Given the description of an element on the screen output the (x, y) to click on. 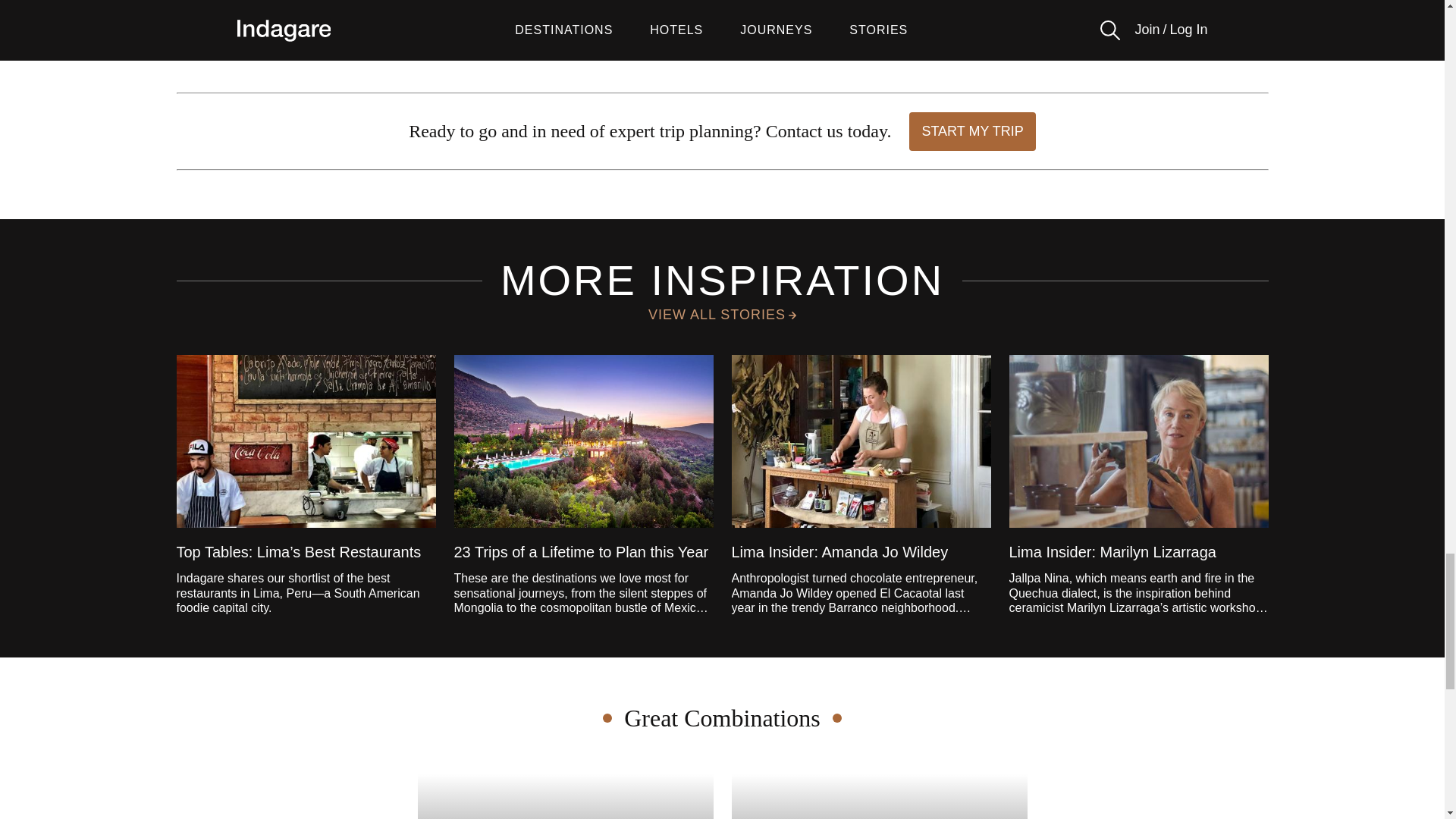
VIEW ALL STORIES (721, 314)
START MY TRIP (878, 789)
